Given the description of an element on the screen output the (x, y) to click on. 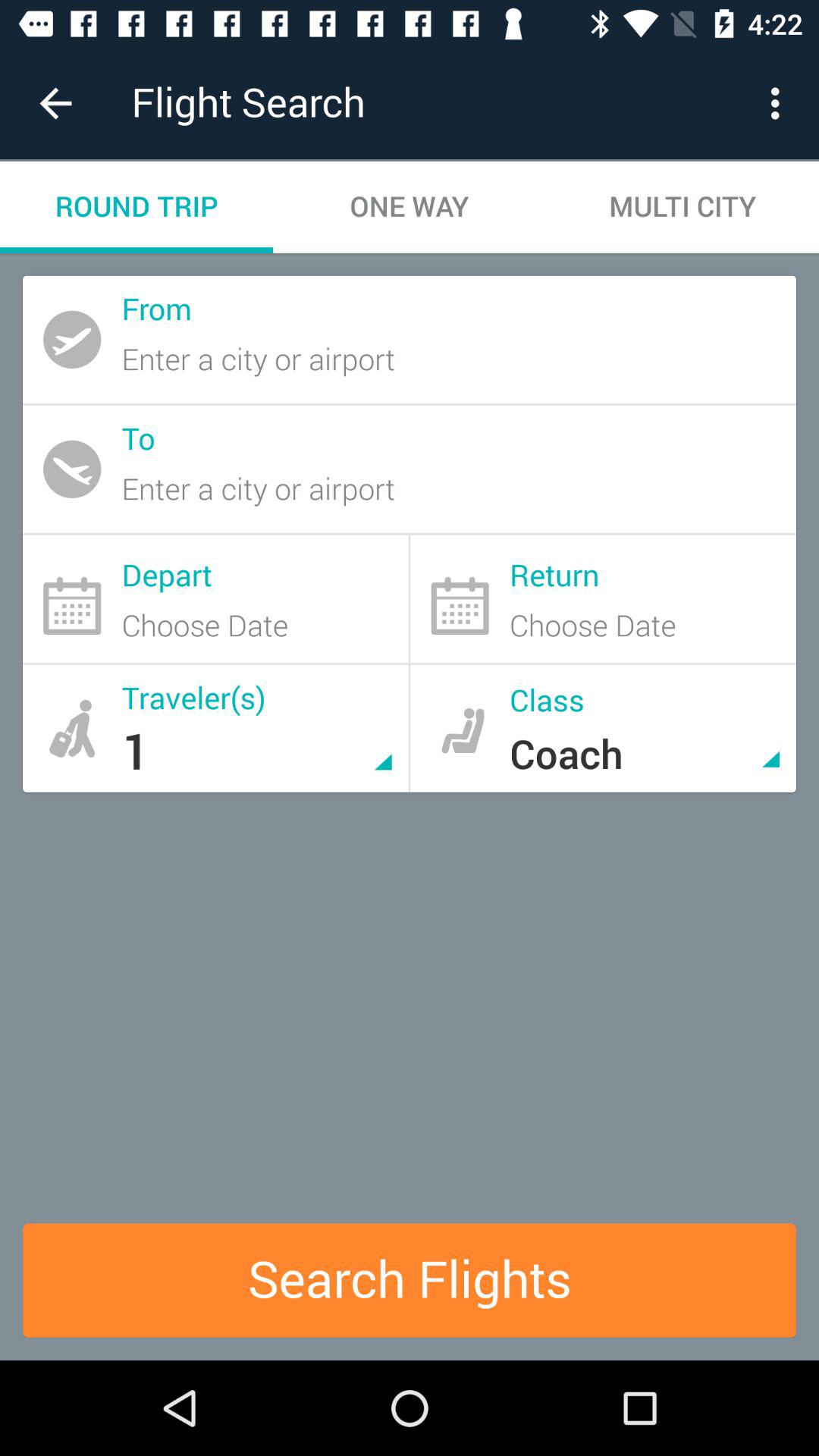
launch the round trip icon (136, 207)
